Given the description of an element on the screen output the (x, y) to click on. 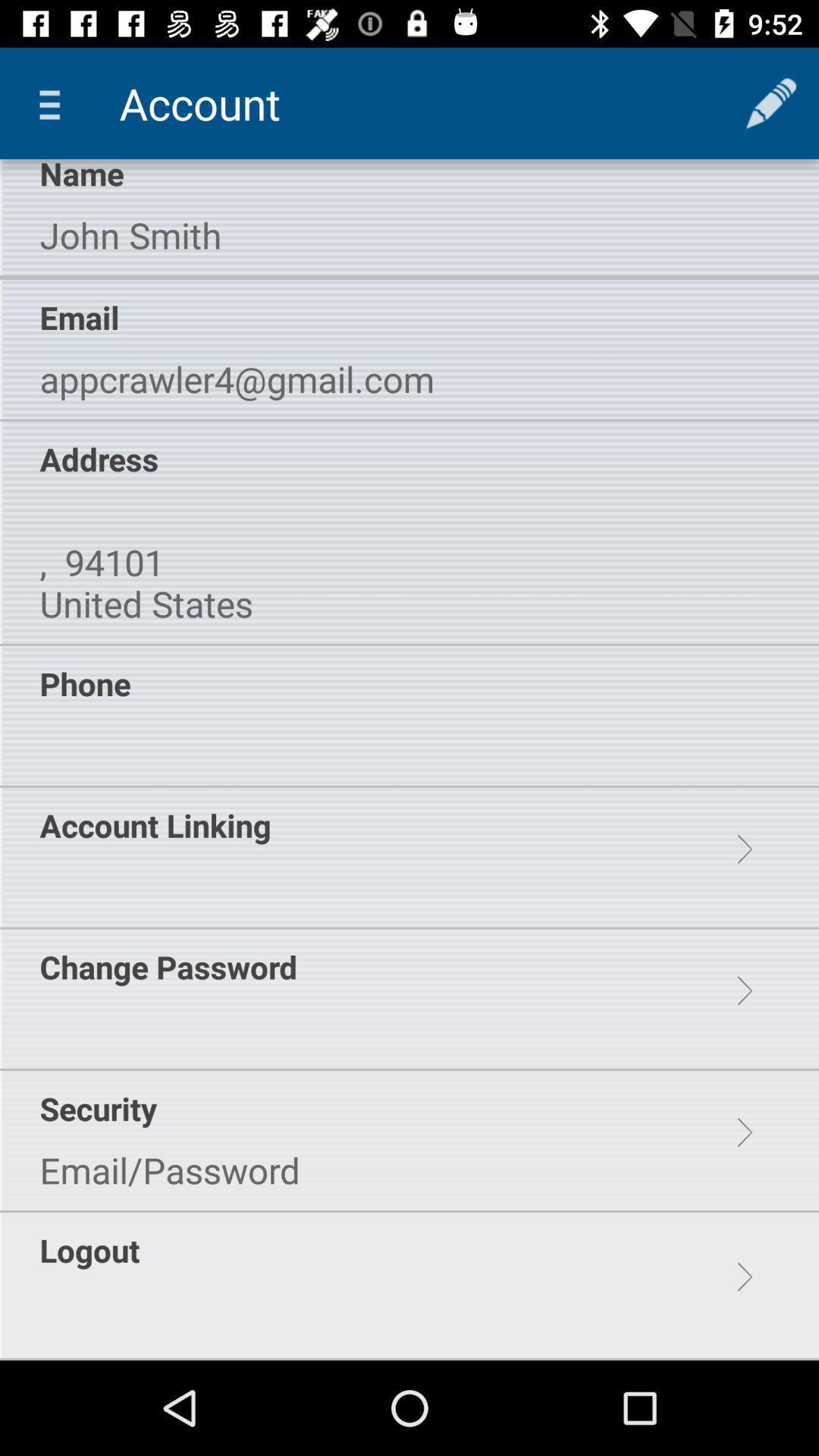
tap app to the right of account app (771, 103)
